Given the description of an element on the screen output the (x, y) to click on. 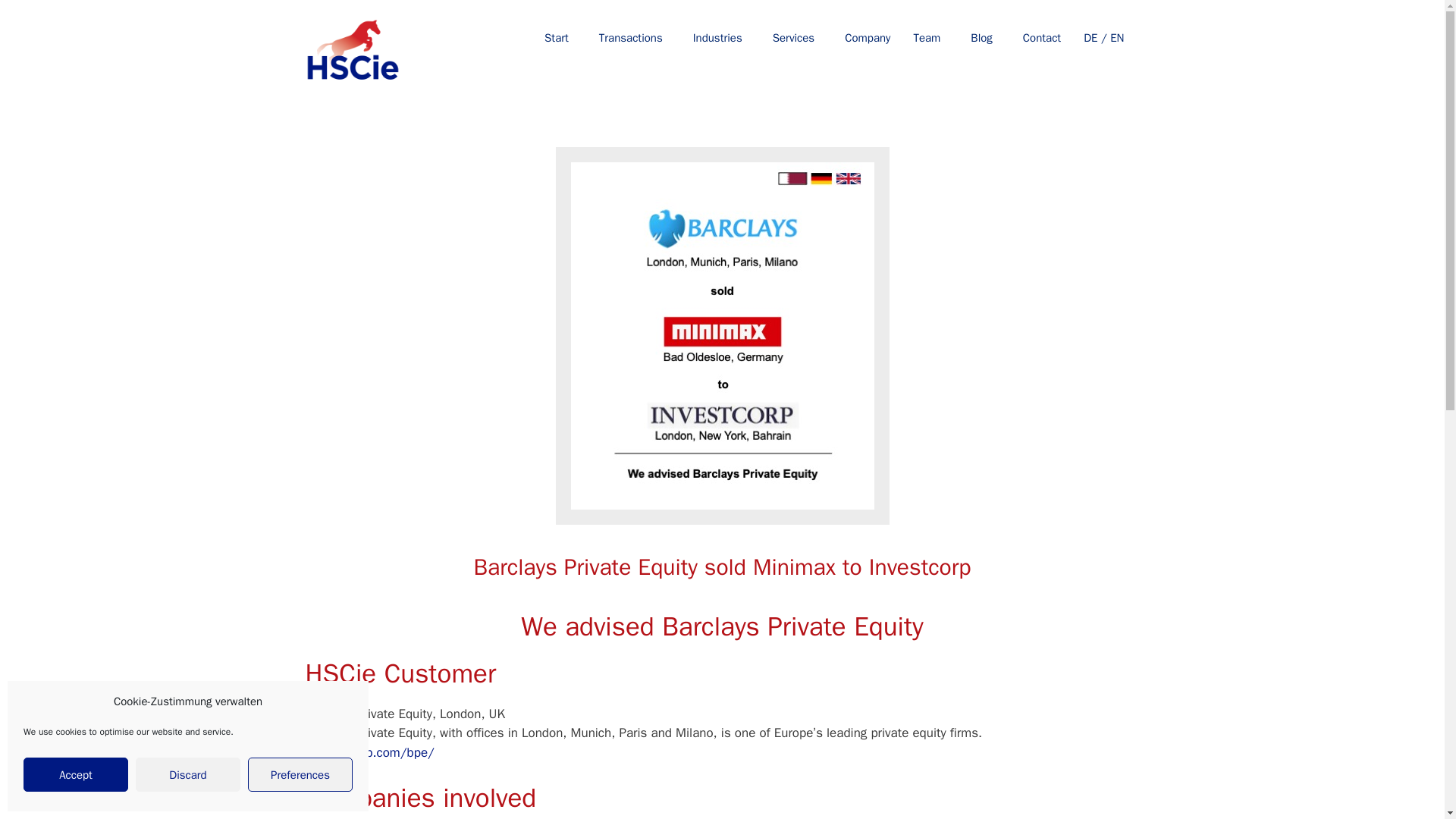
Accept (75, 774)
Start (556, 37)
Industries (717, 37)
Company (863, 37)
Contact (1037, 37)
Discard (187, 774)
Services (793, 37)
Preferences (299, 774)
Blog (981, 37)
Transactions (630, 37)
Team (926, 37)
